Given the description of an element on the screen output the (x, y) to click on. 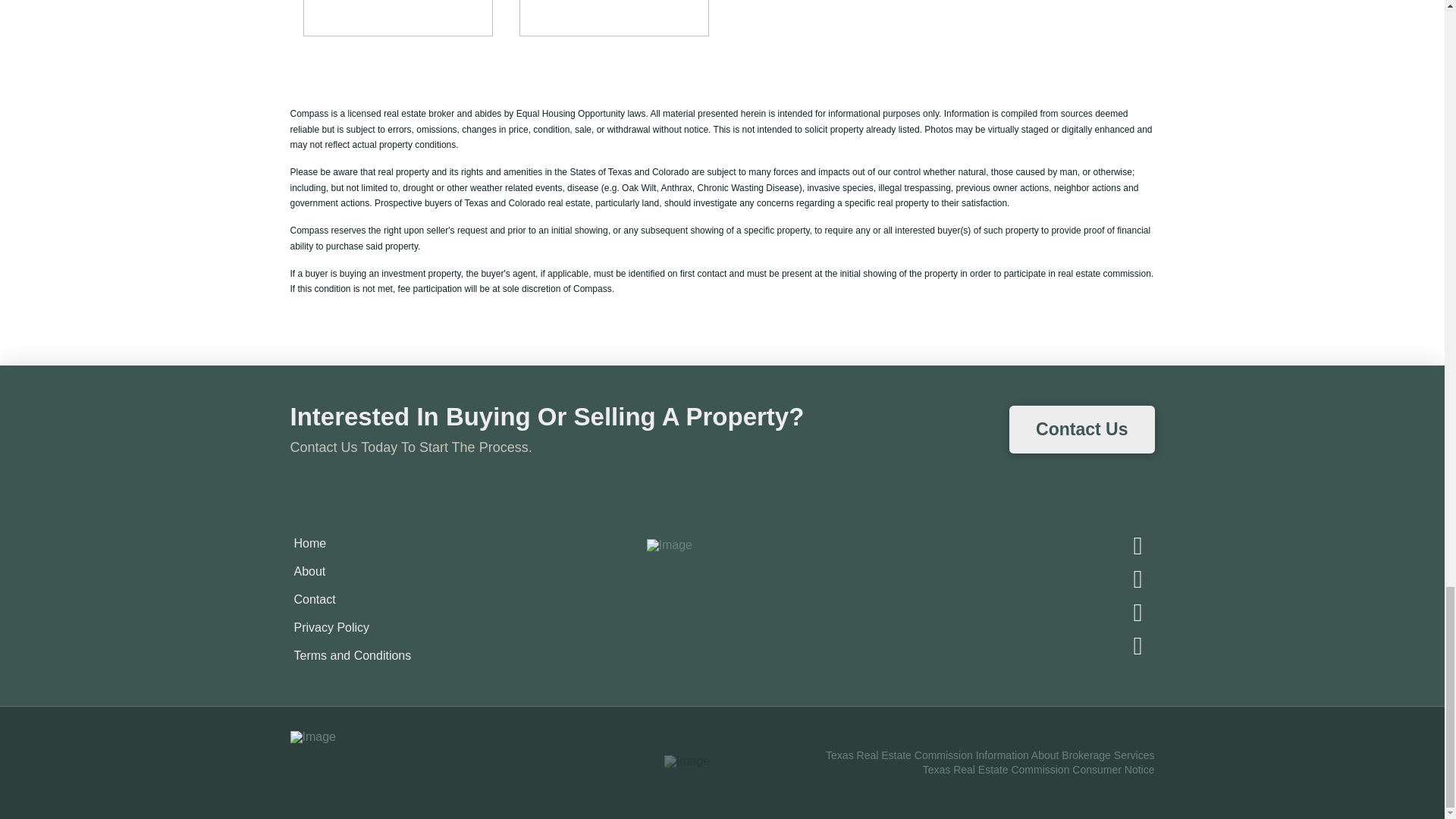
Privacy Policy (330, 627)
Contact Us (1081, 429)
Terms and Conditions (351, 655)
Contact (314, 599)
About (309, 571)
Home (309, 543)
